Given the description of an element on the screen output the (x, y) to click on. 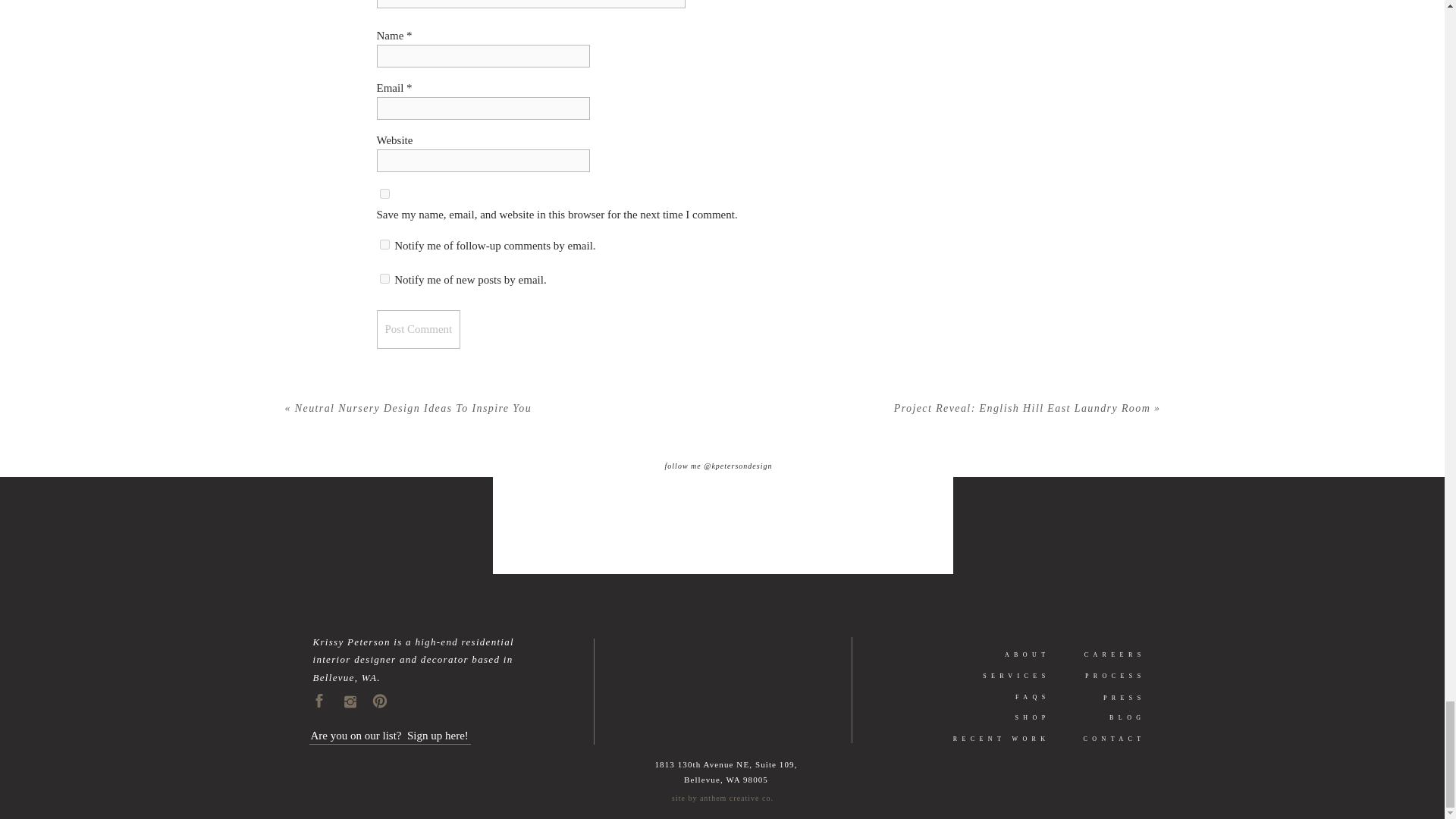
subscribe (383, 278)
Post Comment (417, 329)
Project Reveal: English Hill East Laundry Room (1021, 408)
Post Comment (417, 329)
Neutral Nursery Design Ideas To Inspire You (413, 408)
yes (383, 194)
subscribe (383, 244)
